Given the description of an element on the screen output the (x, y) to click on. 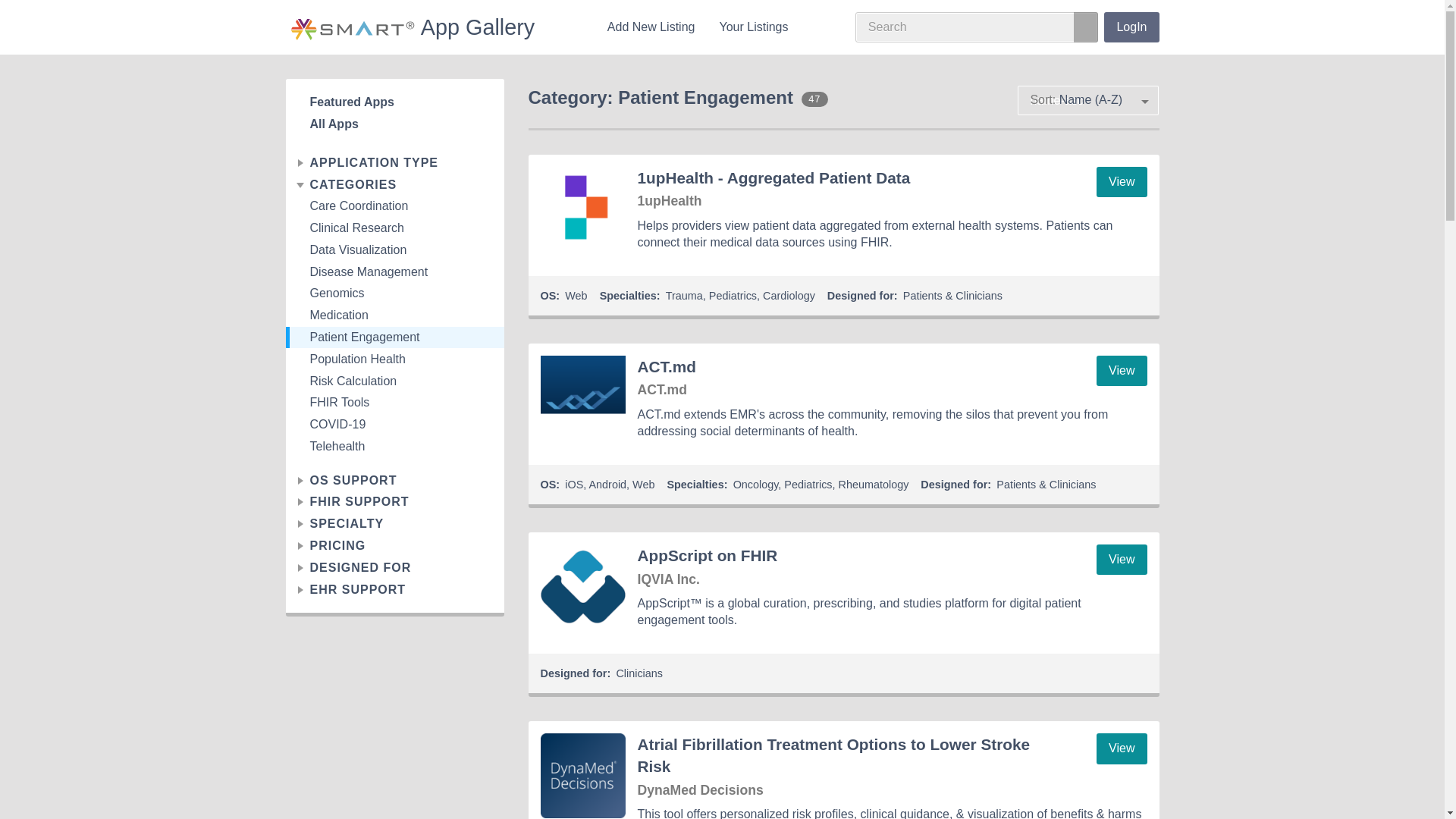
Featured Apps (394, 101)
Care Coordination (394, 206)
App Gallery (412, 27)
name-asc (1087, 100)
Atrial Fibrillation Treatment Options to Lower Stroke Risk (582, 775)
ACT.md (582, 397)
Your Listings (752, 27)
All Apps (394, 124)
Medication (394, 315)
COVID-19 (394, 424)
SMART (352, 29)
AppScript on FHIR (582, 586)
Add New Listing (651, 27)
Risk Calculation (394, 381)
FHIR Tools (394, 403)
